Given the description of an element on the screen output the (x, y) to click on. 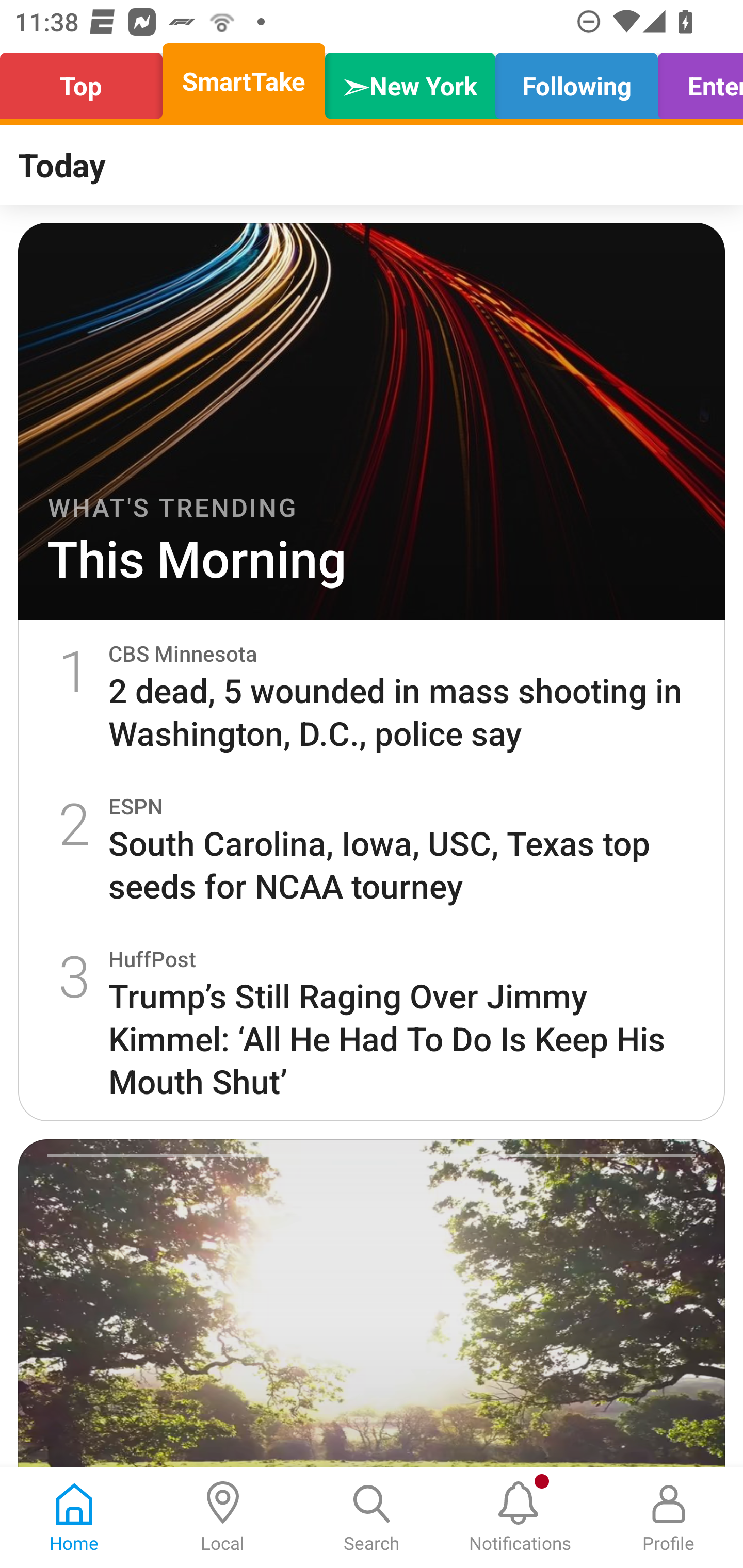
Top (86, 81)
SmartTake (243, 81)
➣New York (409, 81)
Following (576, 81)
Local (222, 1517)
Search (371, 1517)
Notifications, New notification Notifications (519, 1517)
Profile (668, 1517)
